Given the description of an element on the screen output the (x, y) to click on. 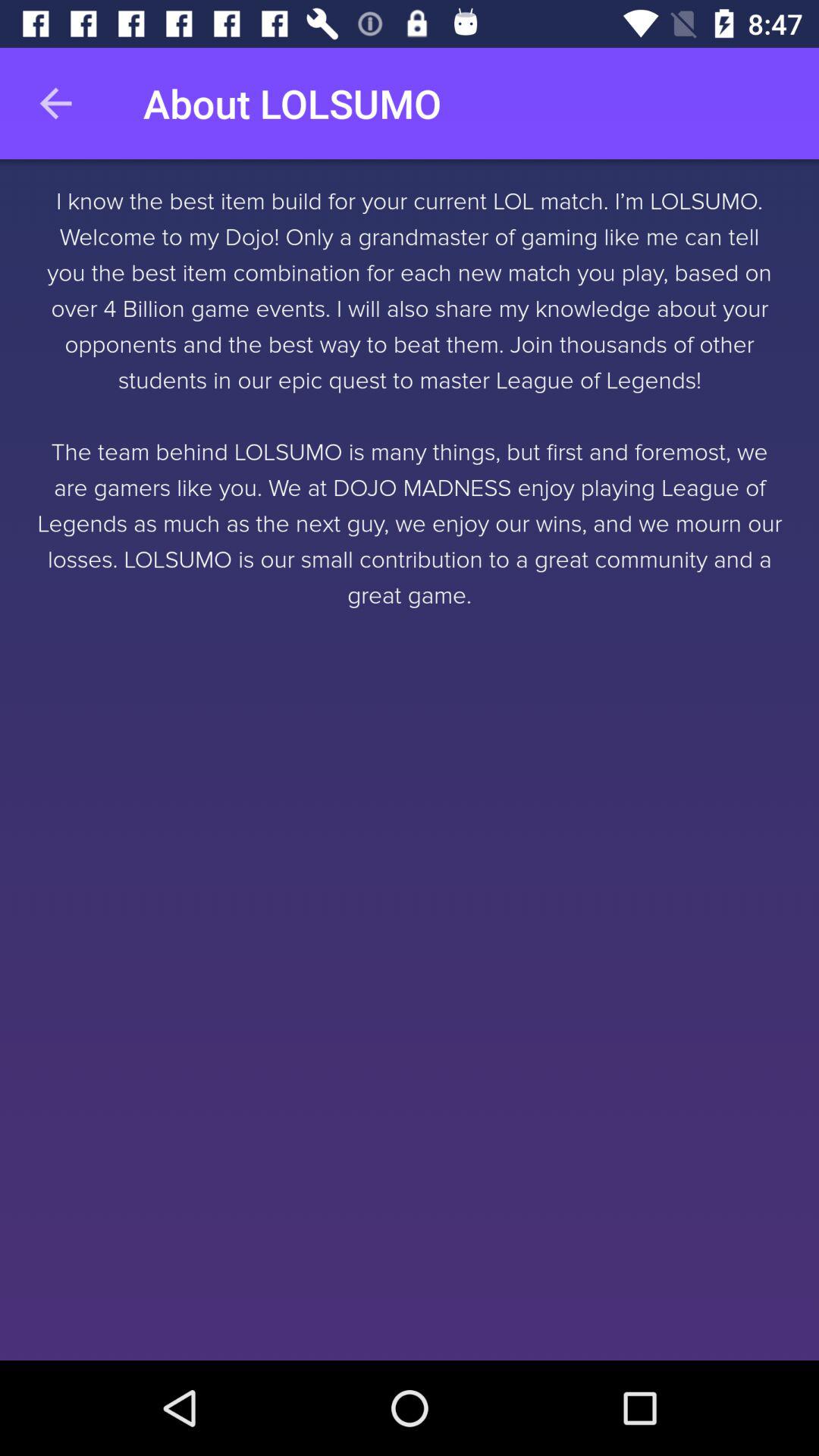
tap the icon at the top left corner (55, 103)
